Given the description of an element on the screen output the (x, y) to click on. 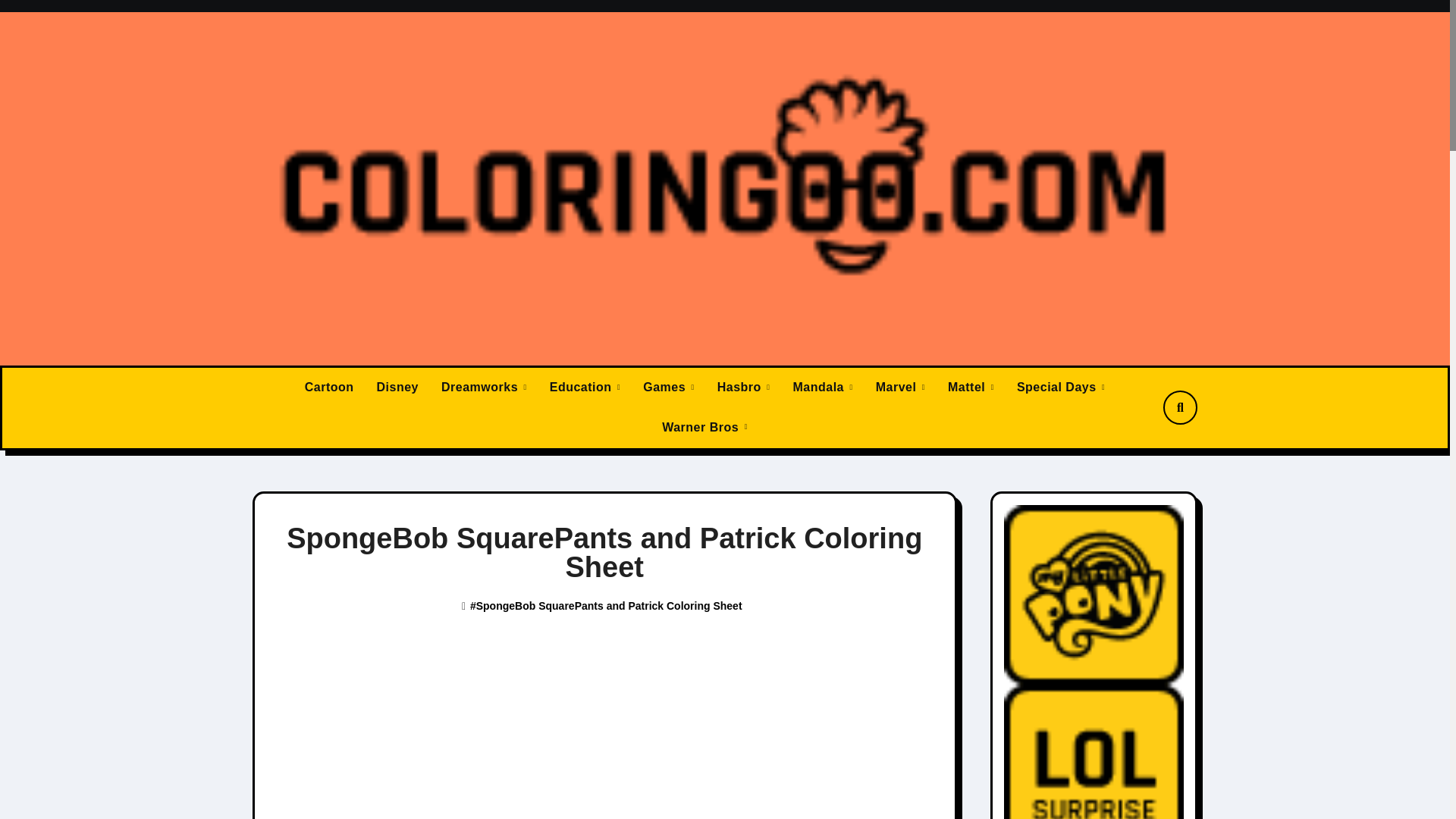
Disney (397, 387)
Cartoon (329, 387)
Cartoon (329, 387)
Disney (397, 387)
Dreamworks (483, 387)
Games (668, 387)
Dreamworks (483, 387)
Education (584, 387)
Education (584, 387)
